Given the description of an element on the screen output the (x, y) to click on. 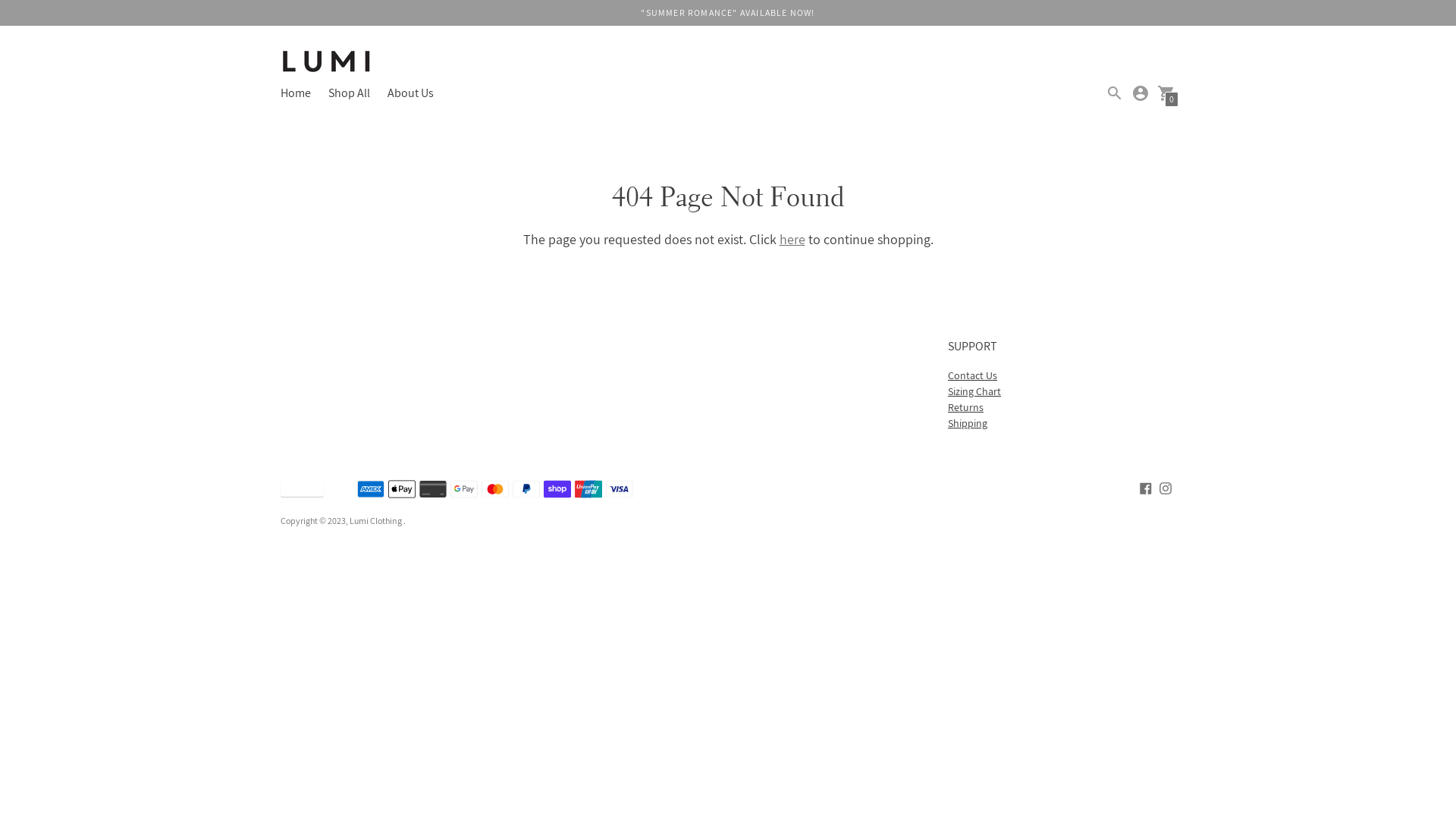
Home Element type: text (295, 92)
Contact Us Element type: text (972, 375)
About Us Element type: text (410, 92)
Lumi Clothing  on Instagram Element type: hover (1165, 487)
Lumi Clothing  on Facebook Element type: hover (1145, 487)
Lumi Clothing Element type: text (376, 520)
Sizing Chart Element type: text (974, 391)
here Element type: text (792, 238)
Returns Element type: text (965, 407)
AUD $ Element type: text (301, 488)
Shop All Element type: text (349, 92)
Shipping Element type: text (967, 422)
0 Element type: text (1166, 92)
